Given the description of an element on the screen output the (x, y) to click on. 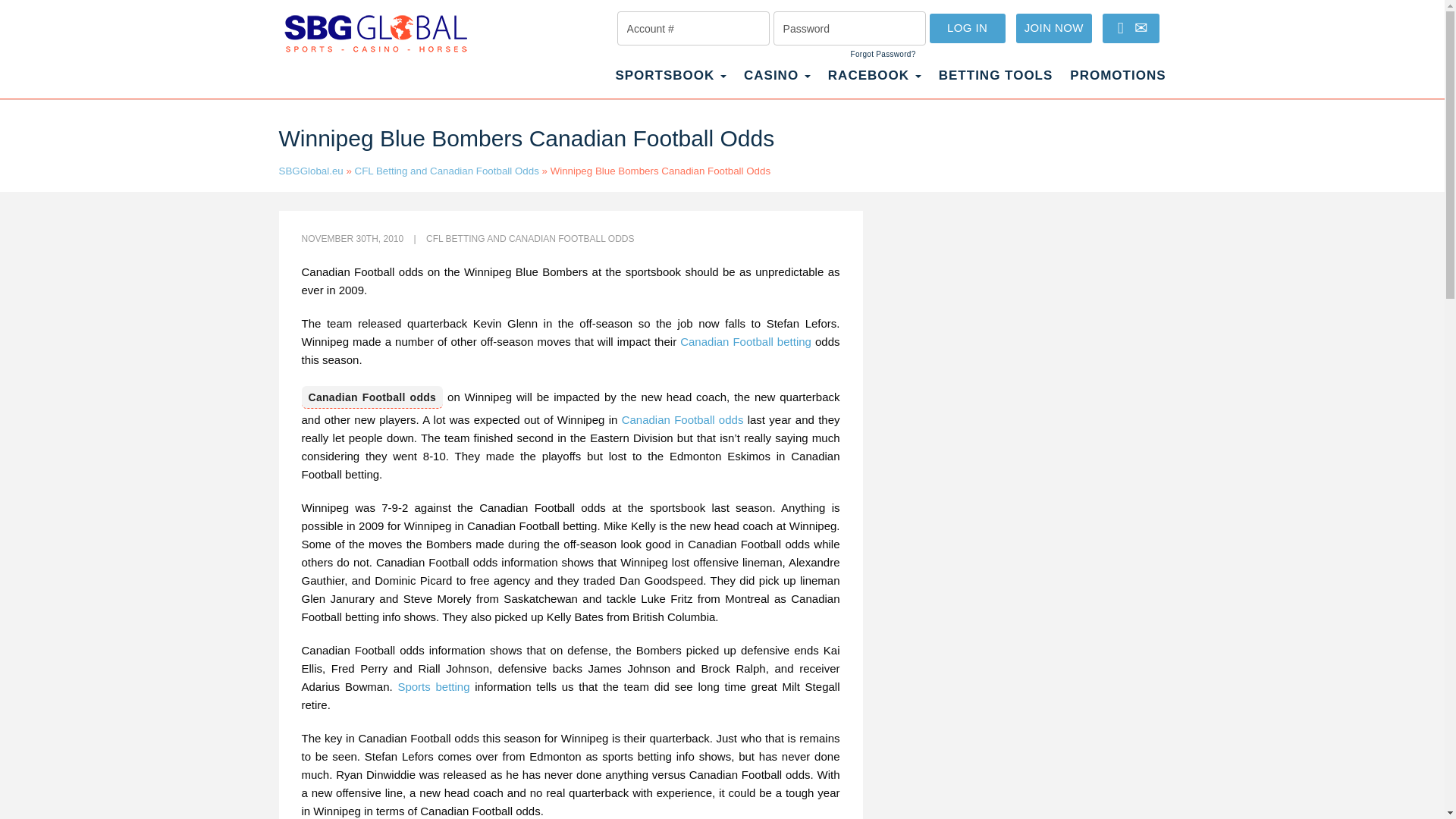
JOIN NOW (1054, 28)
Forgot Password? (882, 53)
LOG IN (968, 28)
SPORTSBOOK (670, 83)
Sportsbook (670, 83)
